Given the description of an element on the screen output the (x, y) to click on. 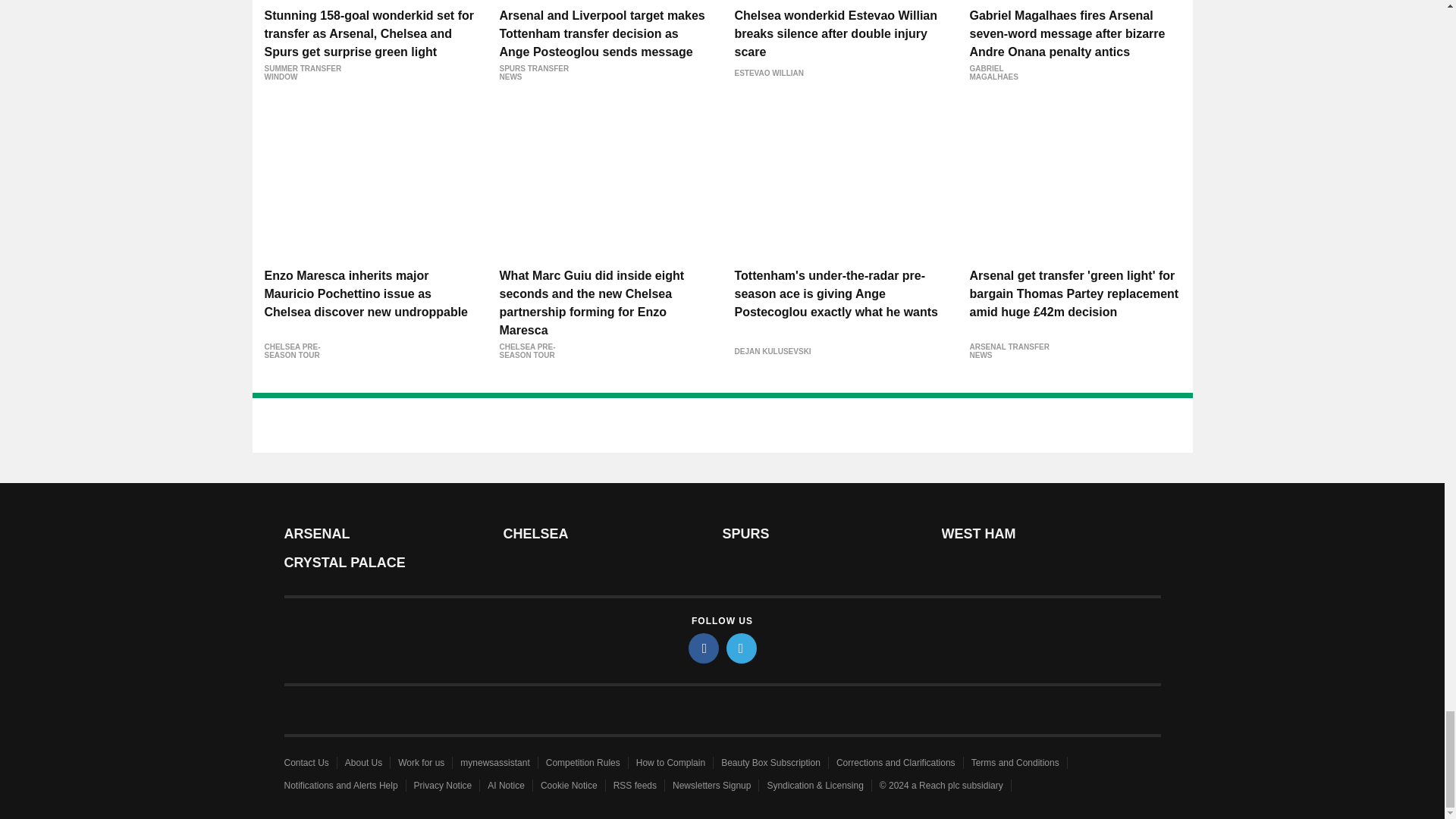
facebook (703, 648)
twitter (741, 648)
